Given the description of an element on the screen output the (x, y) to click on. 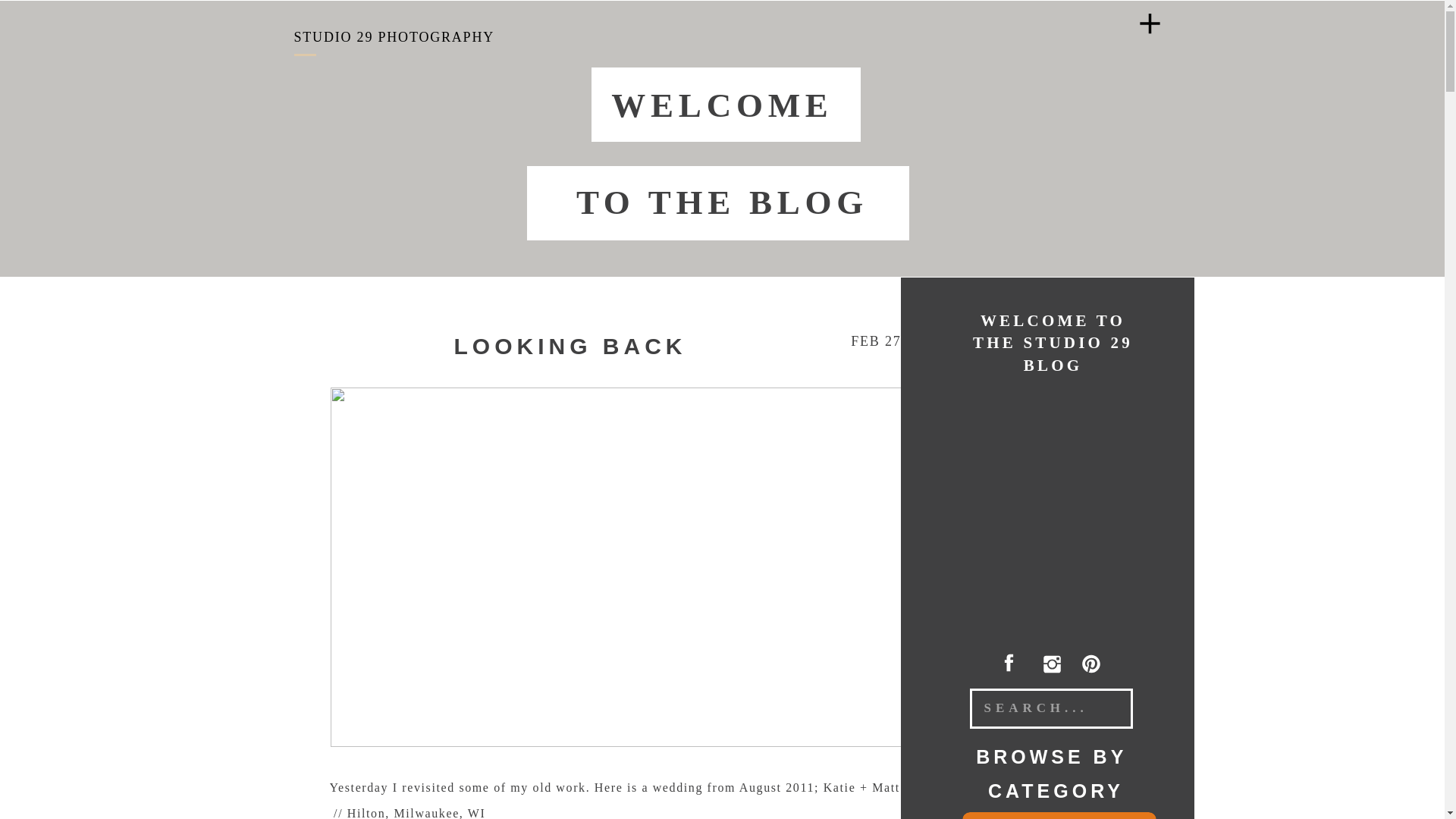
TO THE BLOG (721, 199)
STUDIO 29 PHOTOGRAPHY (394, 33)
WELCOME (721, 102)
